Given the description of an element on the screen output the (x, y) to click on. 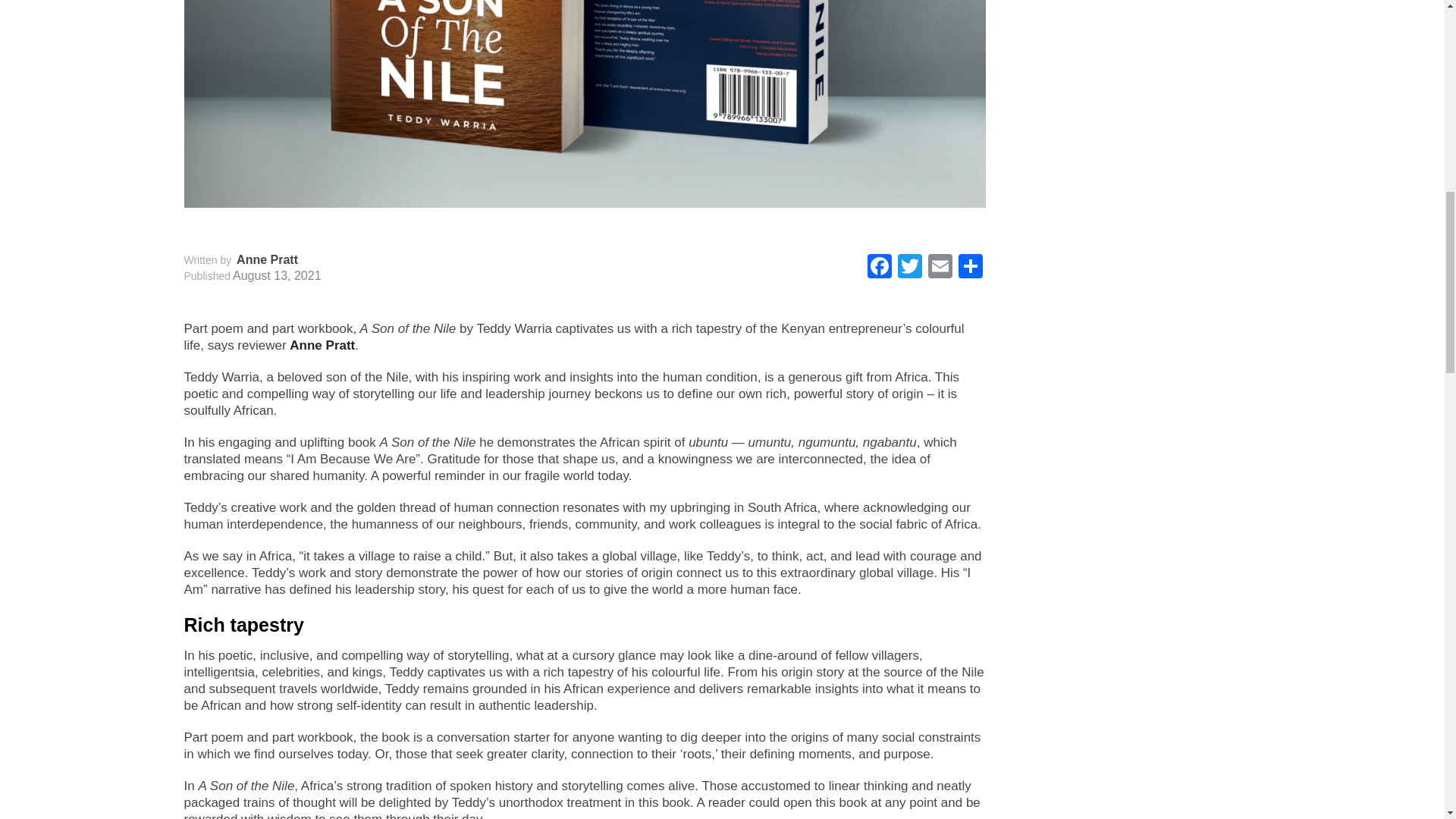
Email (939, 267)
Facebook (879, 267)
Email (939, 267)
Twitter (909, 267)
Twitter (909, 267)
Facebook (879, 267)
